Given the description of an element on the screen output the (x, y) to click on. 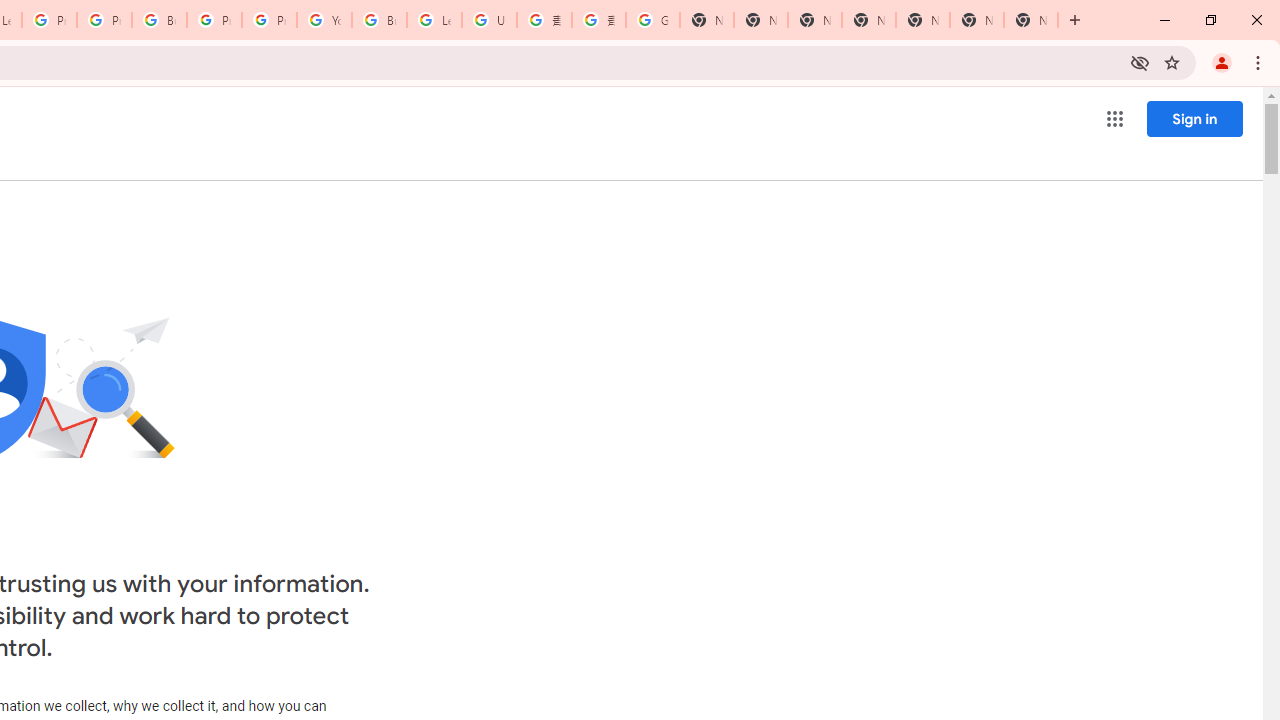
Google Images (652, 20)
New Tab (1030, 20)
